Given the description of an element on the screen output the (x, y) to click on. 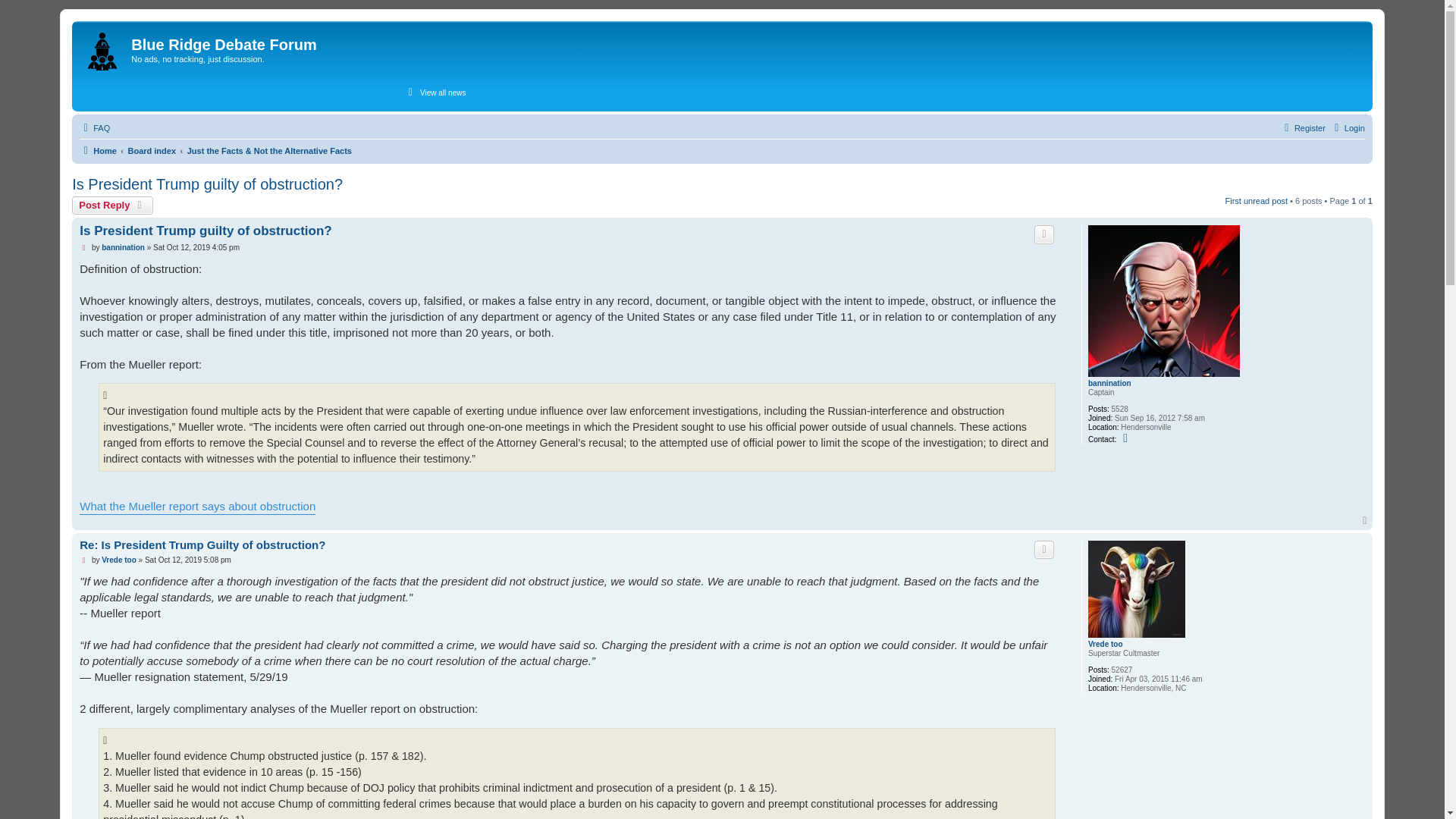
Post Reply (111, 205)
Register (1302, 127)
Is President Trump guilty of obstruction? (206, 184)
Board index (152, 150)
Vrede too (118, 560)
Unread post (84, 247)
Frequently Asked Questions (95, 127)
Vrede too (1104, 644)
Post a reply (111, 205)
Reply with quote (1043, 234)
